Given the description of an element on the screen output the (x, y) to click on. 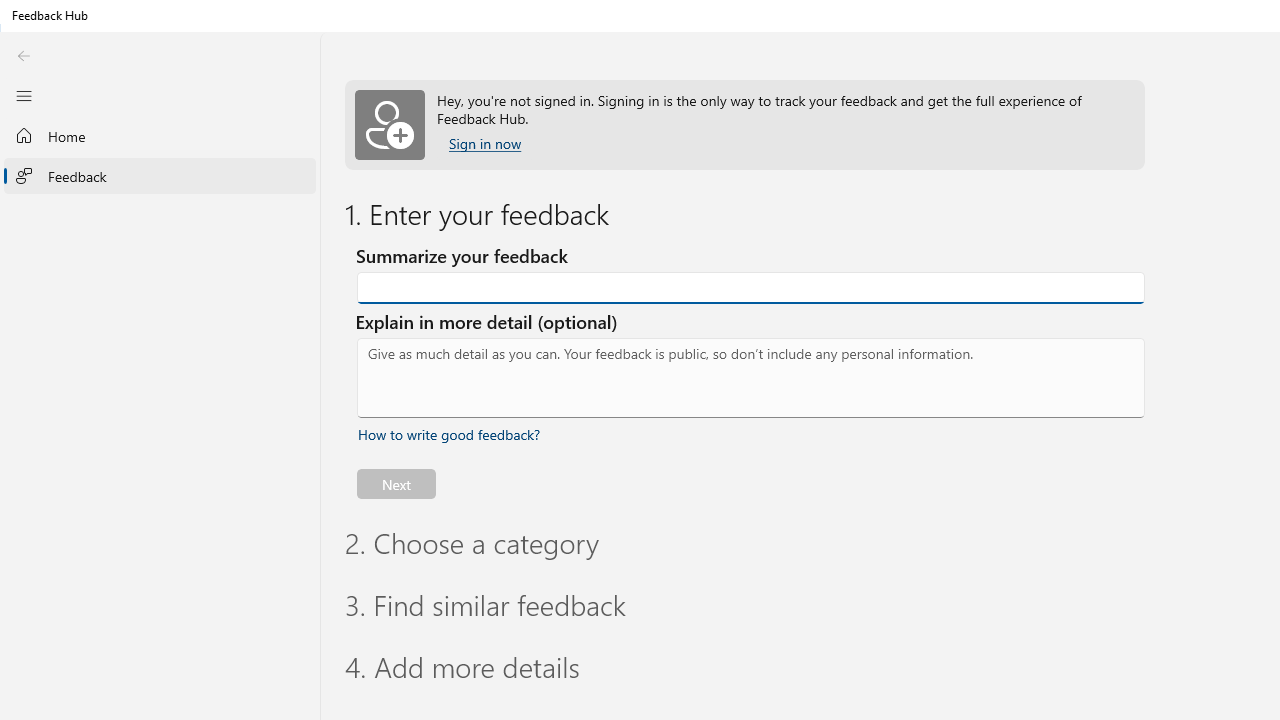
Close Navigation (23, 95)
Home (159, 136)
Next (396, 483)
How to write good feedback? Expand or collapse for tips. (449, 434)
Feedback (159, 175)
Back (23, 56)
Summarize your feedback (751, 287)
Explain in more detail (optional) (751, 377)
Sign in now (484, 143)
